Given the description of an element on the screen output the (x, y) to click on. 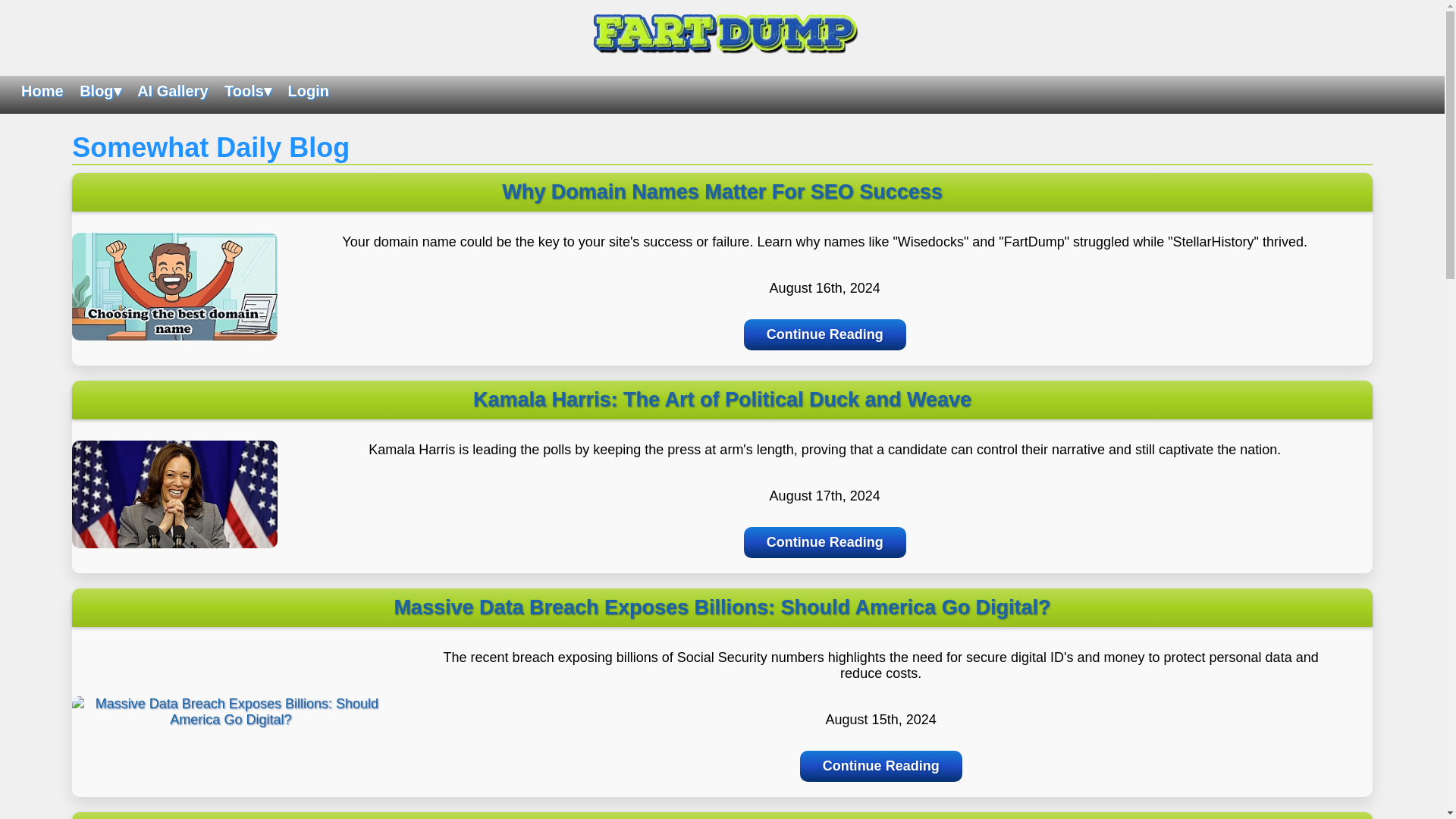
Continue Reading (824, 334)
Continue Reading (824, 542)
AI Gallery (172, 91)
Kamala Harris: The Art of Political Duck and Weave (173, 550)
Home (41, 91)
Continue Reading (880, 766)
Login (308, 91)
Kamala Harris: The Art of Political Duck and Weave (722, 399)
